Given the description of an element on the screen output the (x, y) to click on. 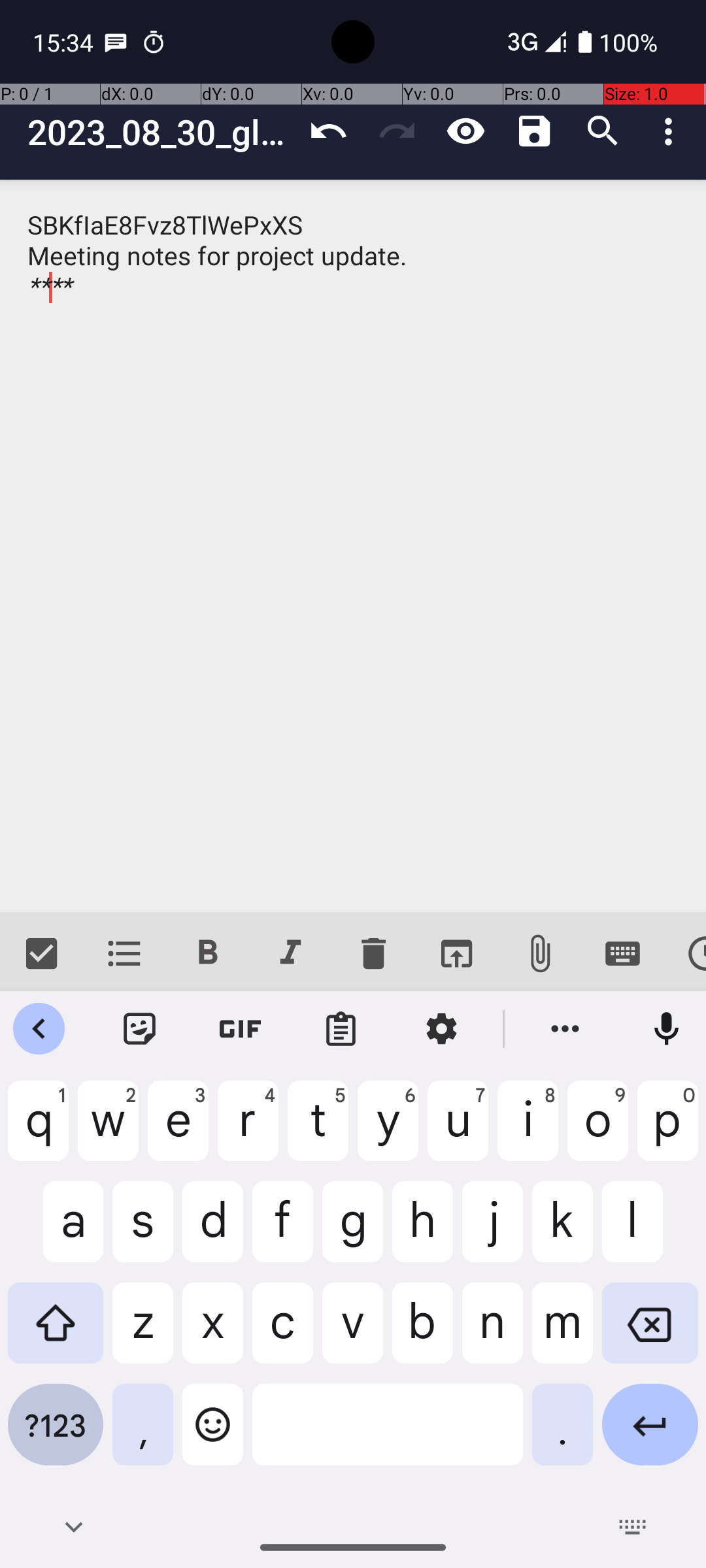
2023_08_30_glad_koala Element type: android.widget.TextView (160, 131)
SBKfIaE8Fvz8TlWePxXS
Meeting notes for project update.
**** Element type: android.widget.EditText (353, 545)
